Given the description of an element on the screen output the (x, y) to click on. 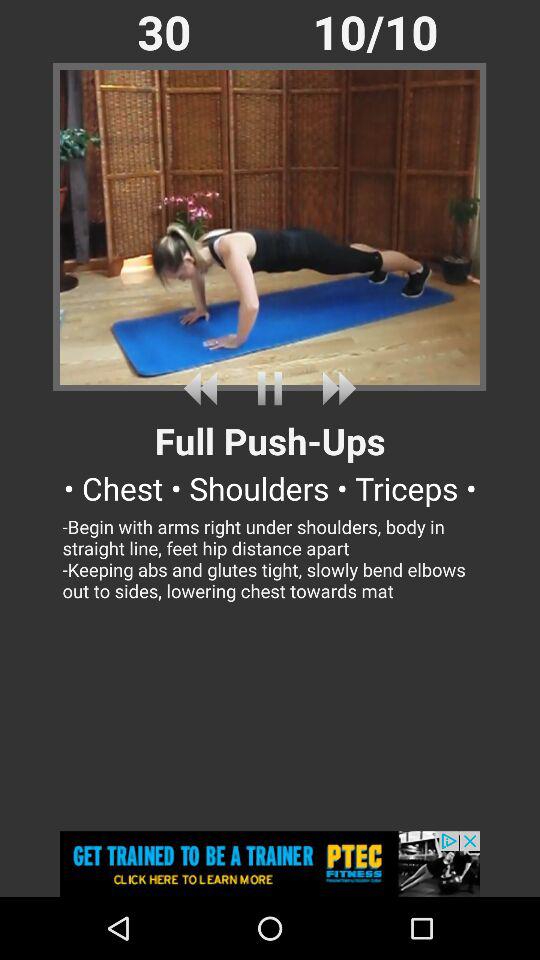
pause playback (269, 388)
